Given the description of an element on the screen output the (x, y) to click on. 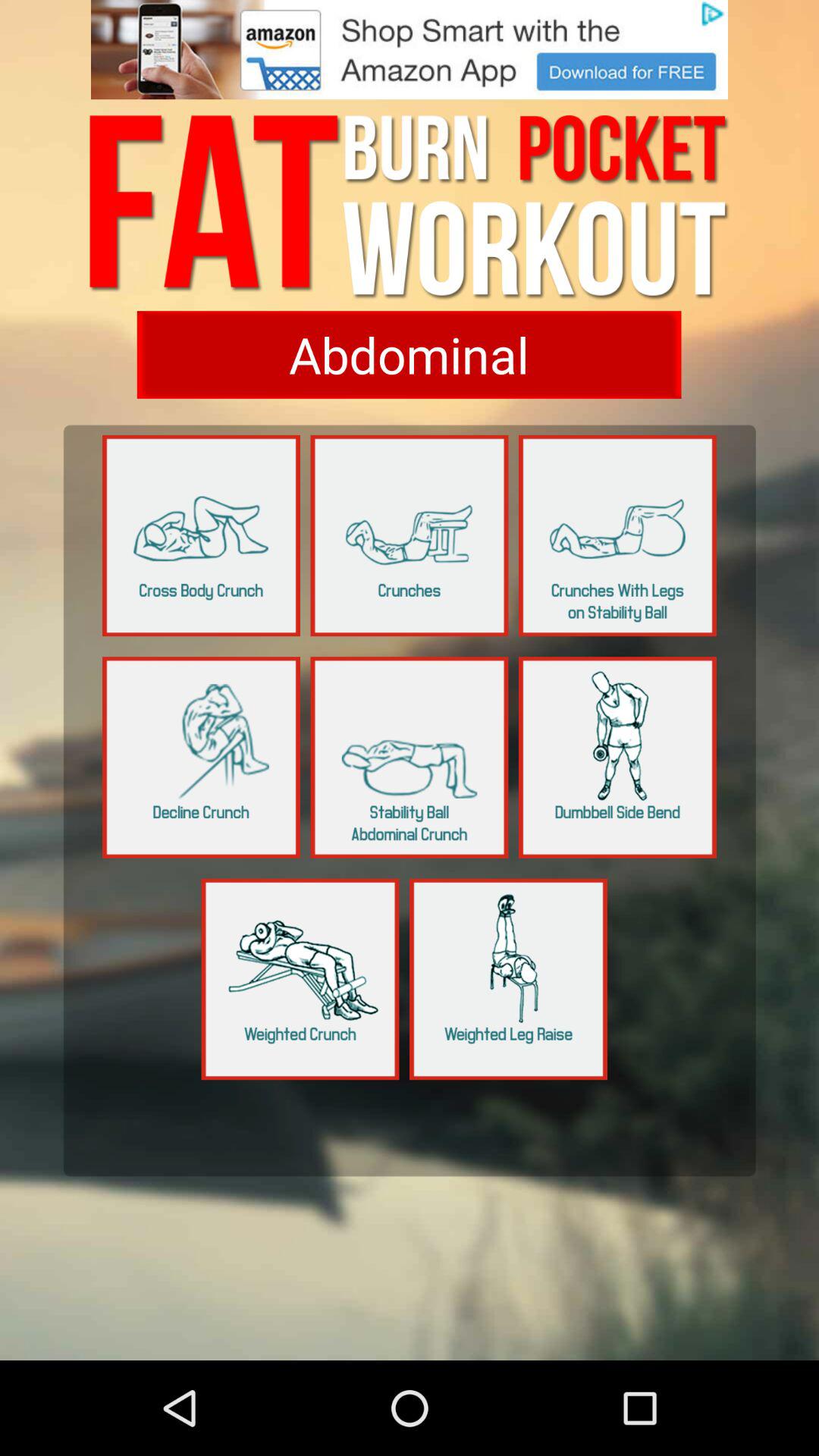
choose your choice (201, 757)
